Given the description of an element on the screen output the (x, y) to click on. 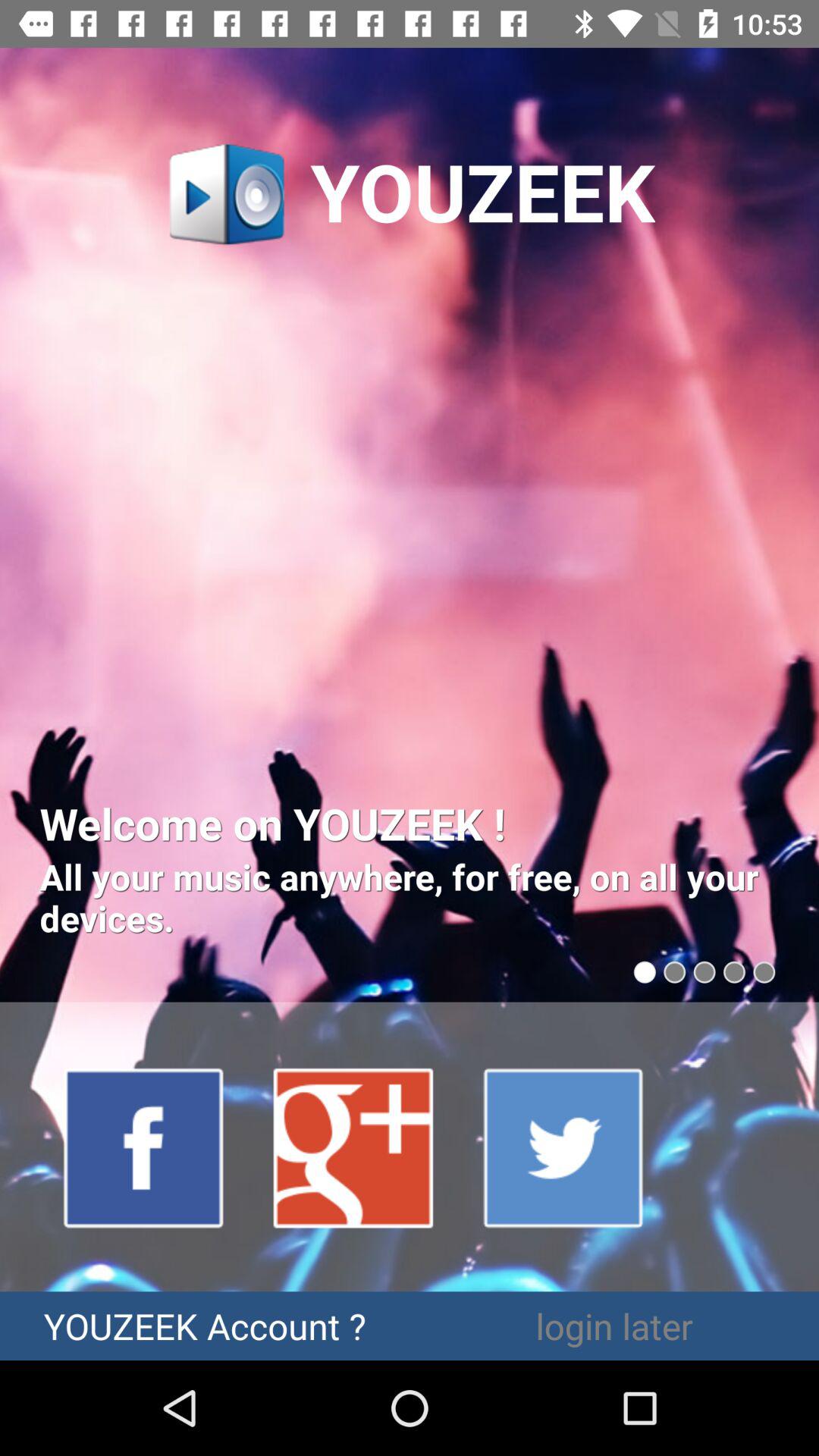
click the item above the youzeek account ? (144, 1146)
